Given the description of an element on the screen output the (x, y) to click on. 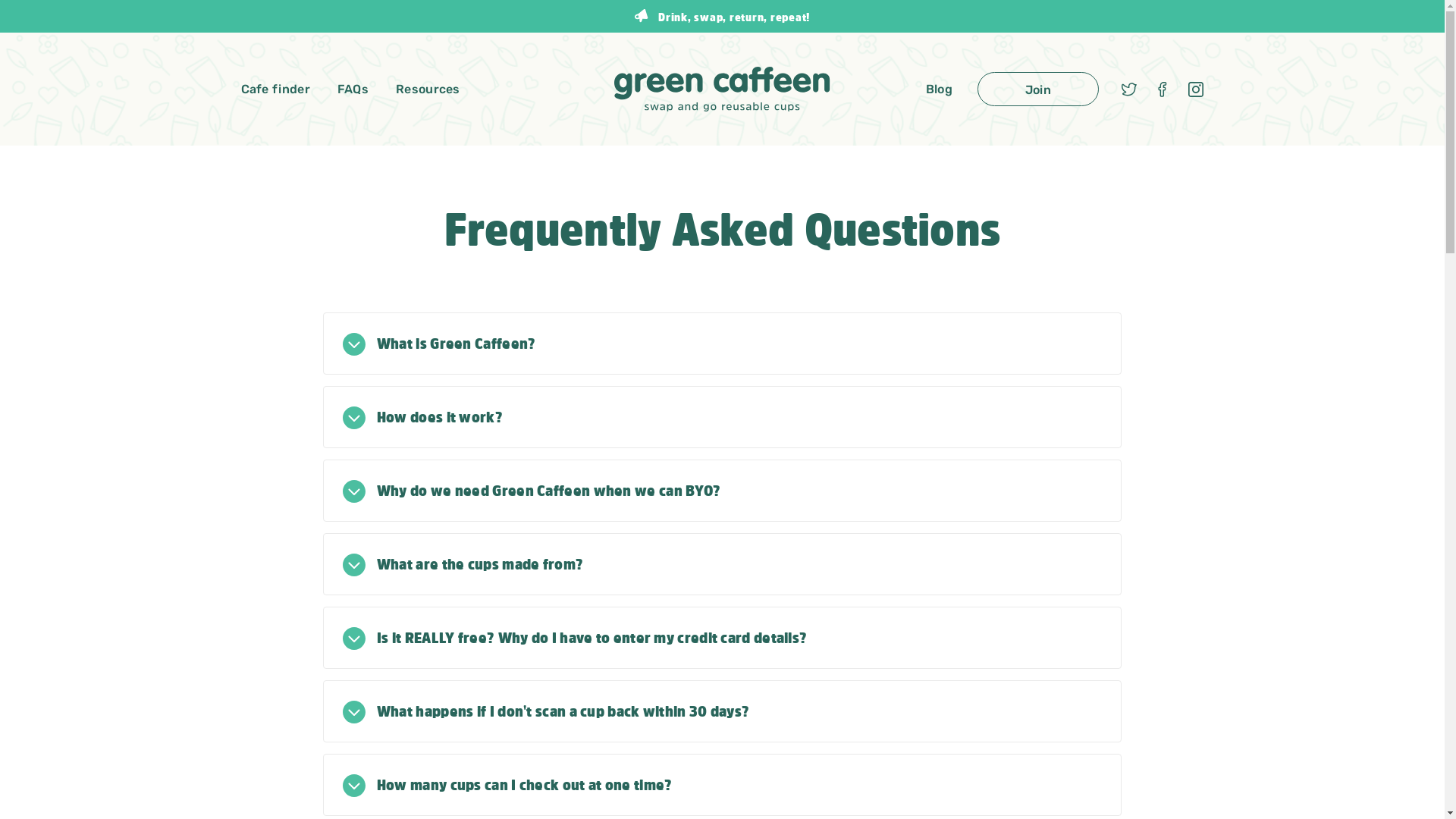
Blog Element type: text (939, 89)
Join Element type: text (1037, 89)
Cafe finder Element type: text (282, 89)
Resources Element type: text (427, 89)
FAQs Element type: text (352, 89)
